Given the description of an element on the screen output the (x, y) to click on. 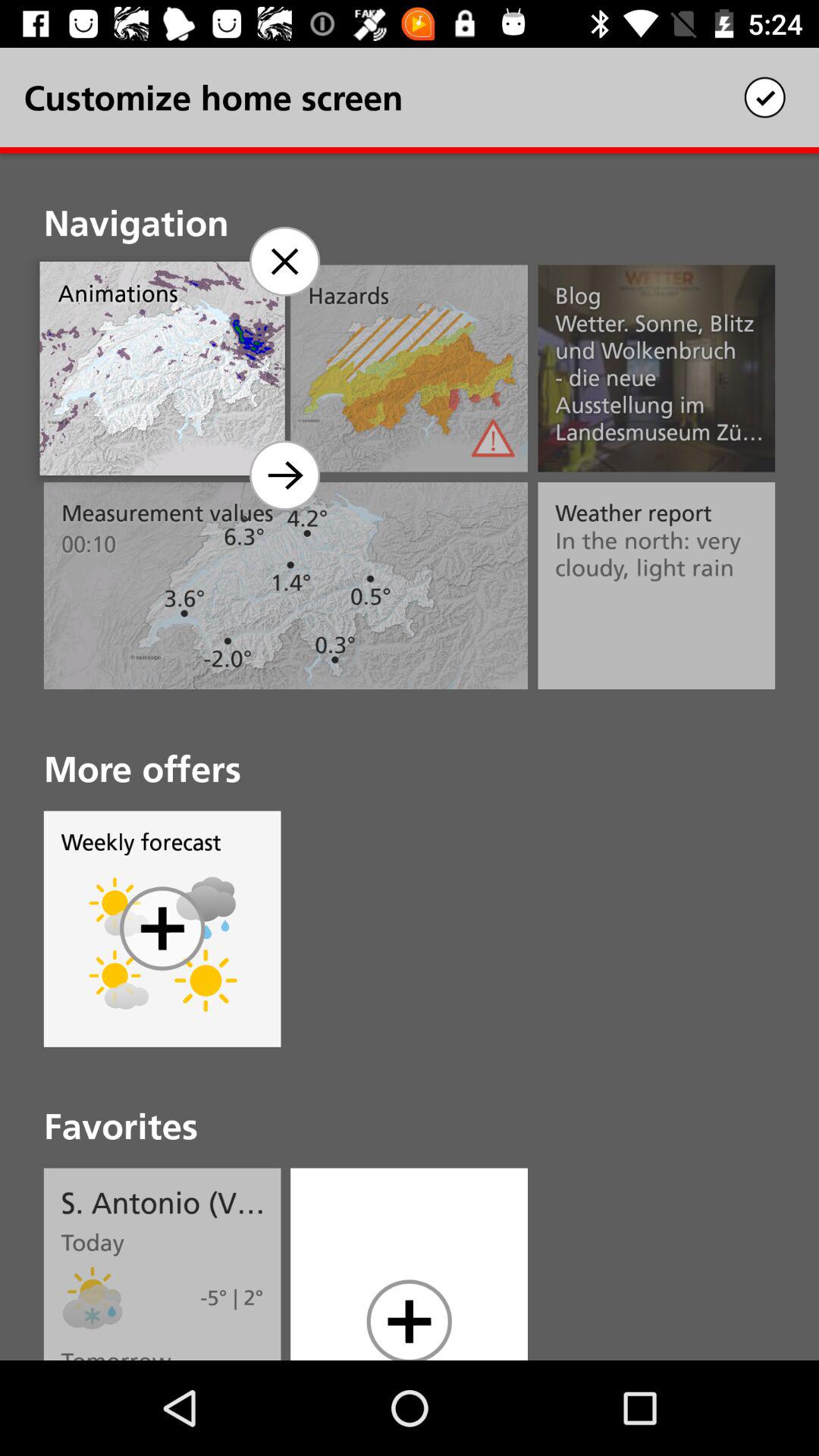
advance preview (284, 475)
